Given the description of an element on the screen output the (x, y) to click on. 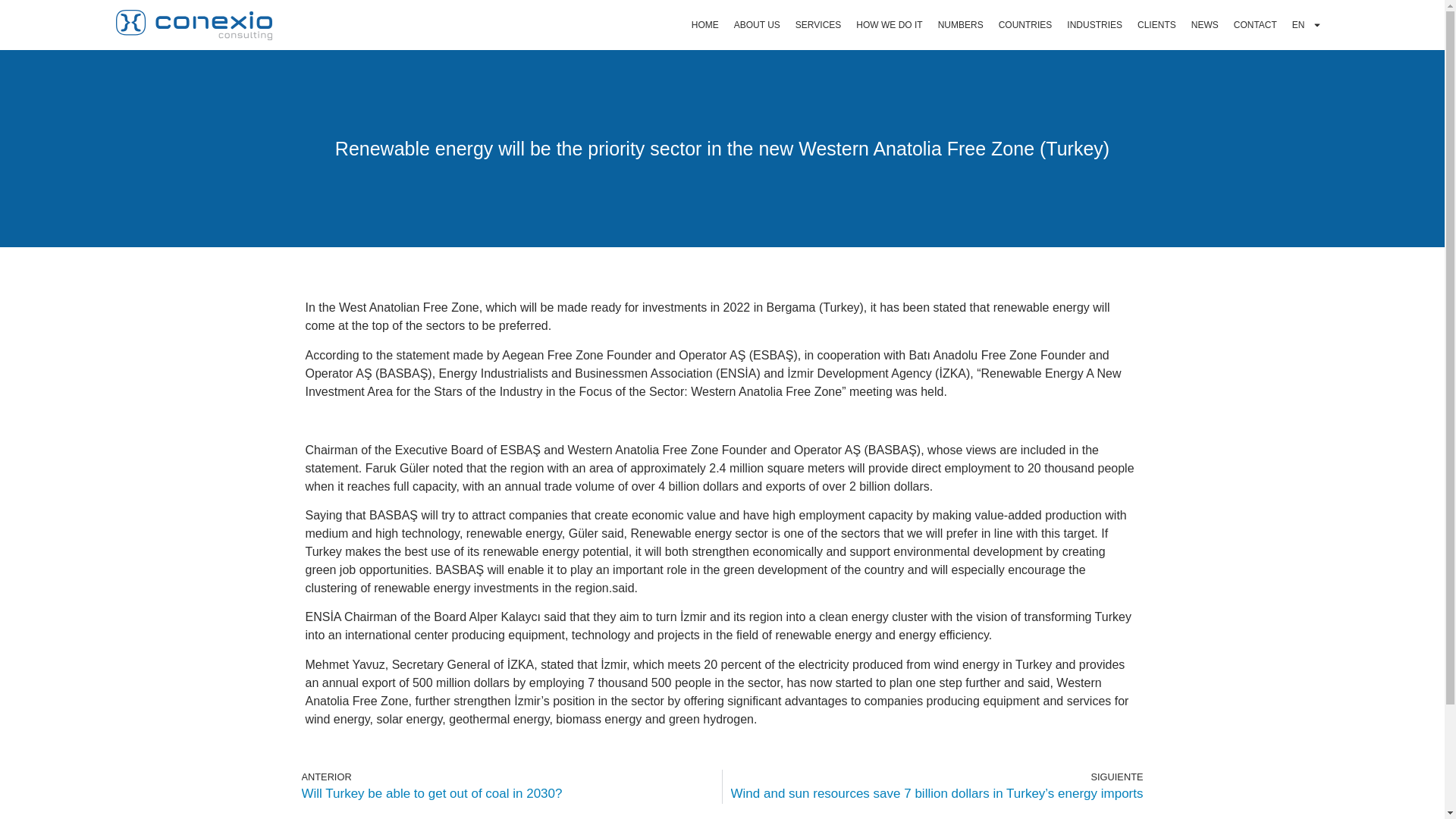
ABOUT US (756, 24)
HOME (705, 24)
CONTACT (1254, 24)
NUMBERS (960, 24)
EN (1306, 24)
SERVICES (817, 24)
EN (1306, 24)
COUNTRIES (1025, 24)
HOW WE DO IT (889, 24)
INDUSTRIES (1094, 24)
NEWS (1204, 24)
CLIENTS (1156, 24)
